Given the description of an element on the screen output the (x, y) to click on. 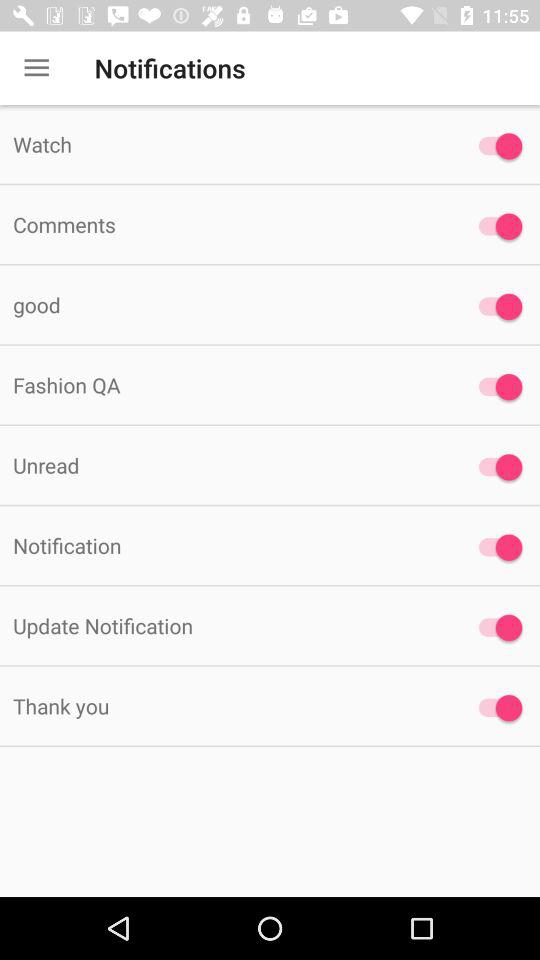
click the item above fashion qa item (225, 304)
